Given the description of an element on the screen output the (x, y) to click on. 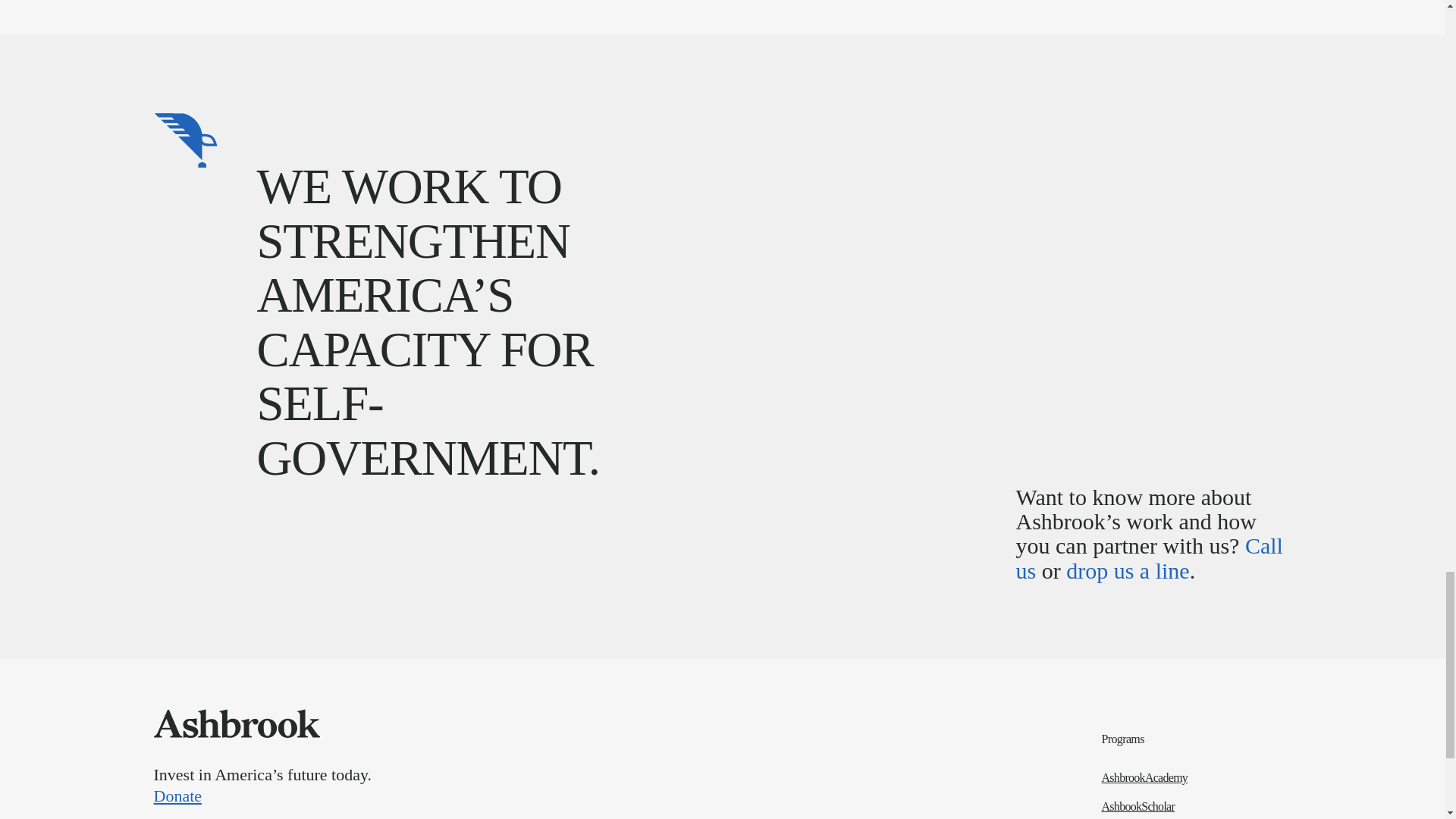
AshbrookAcademy (1196, 777)
AshbookScholar (1196, 806)
drop us a line (1127, 570)
Ashbrook Center (235, 723)
Call us (1149, 557)
Donate (531, 795)
